Given the description of an element on the screen output the (x, y) to click on. 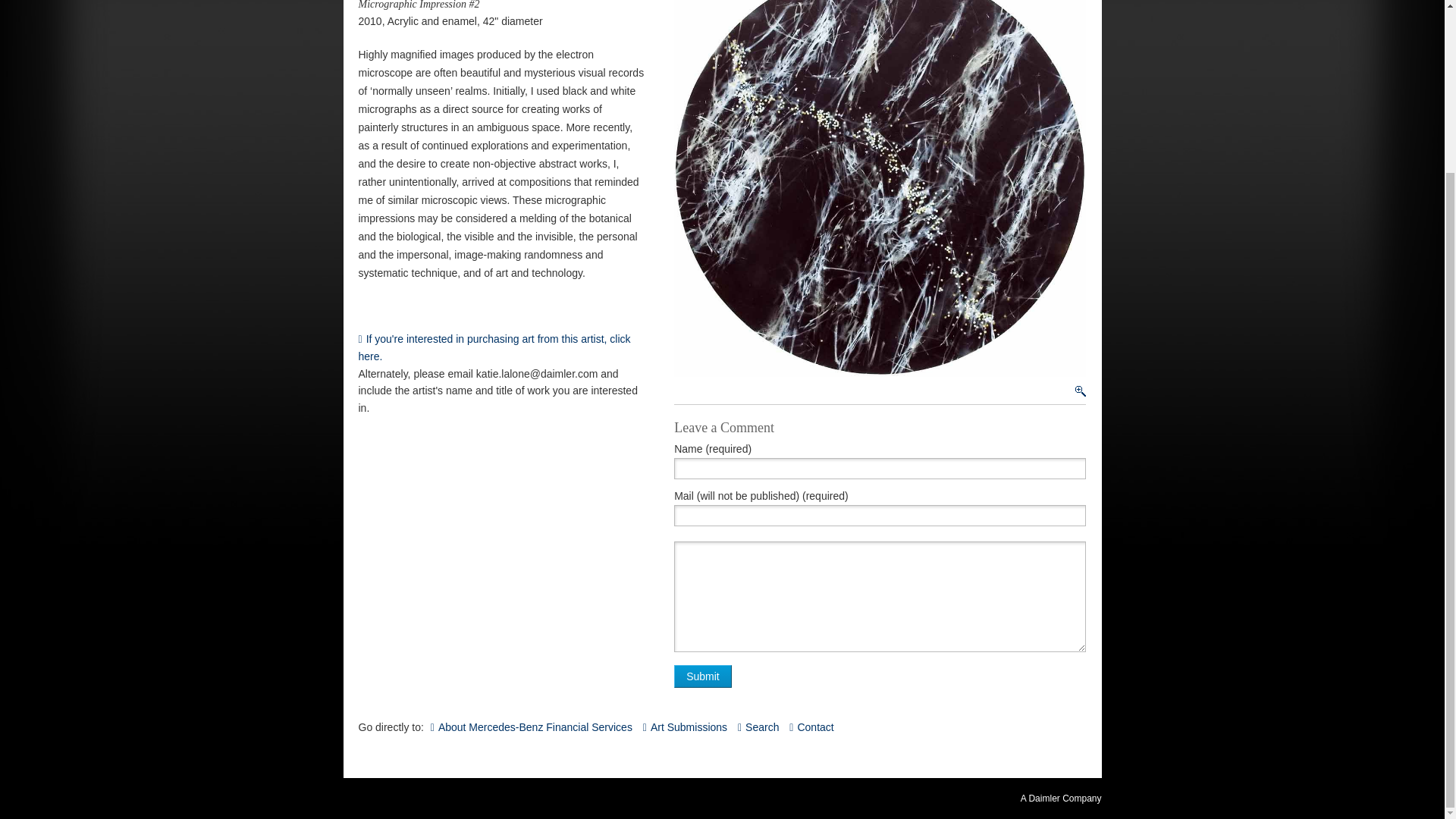
Contact (810, 727)
Search (758, 727)
Submit (703, 676)
Art Submissions (684, 727)
Permanent Link to Palangio Kerry (500, 347)
About Mercedes-Benz Financial Services (530, 727)
Submit (703, 676)
